Given the description of an element on the screen output the (x, y) to click on. 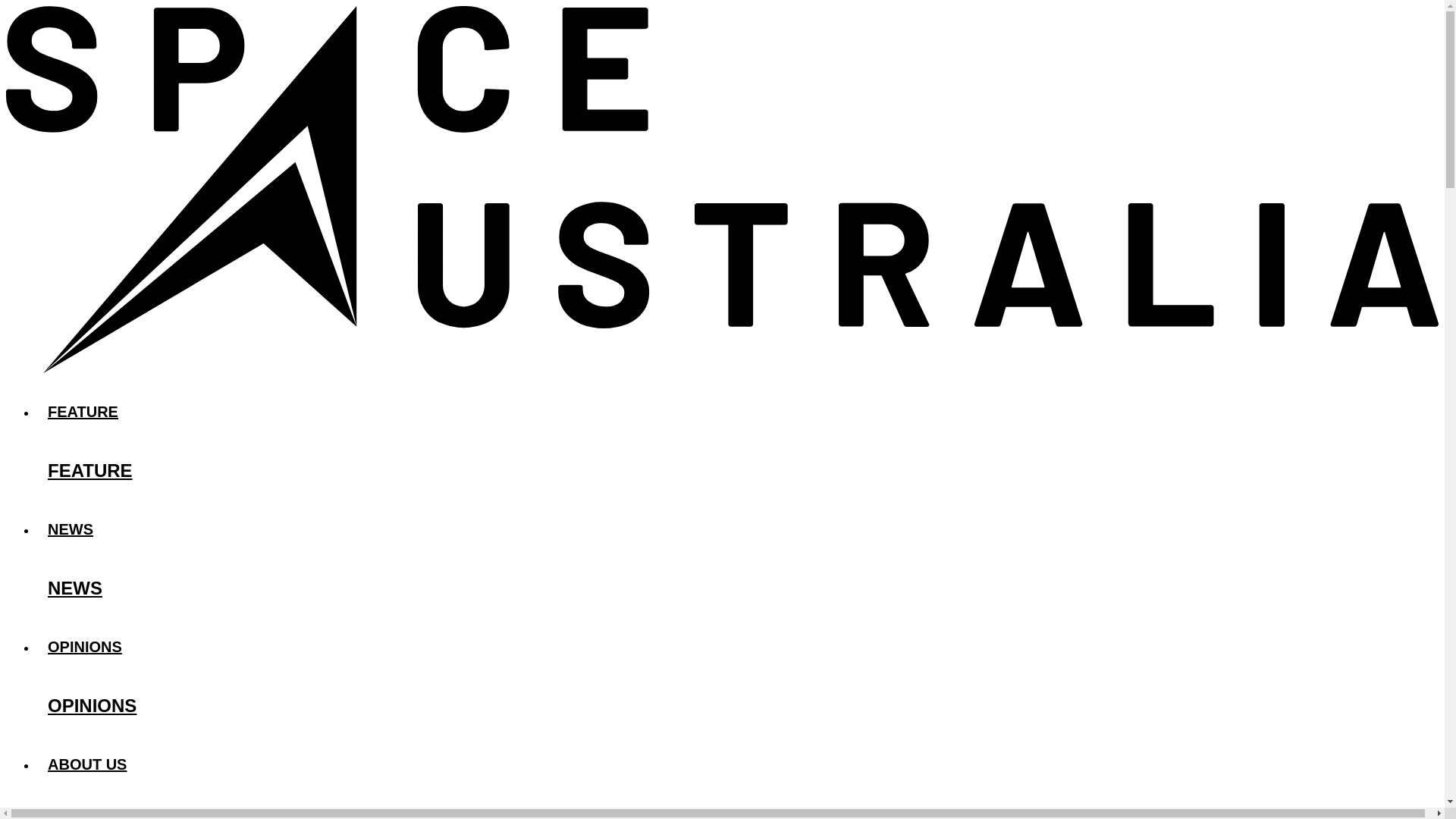
ABOUT US (737, 764)
ABOUT US (737, 808)
OPINIONS (737, 646)
Skip to main content (722, 7)
NEWS (737, 588)
FEATURE (737, 411)
NEWS (737, 529)
OPINIONS (737, 706)
FEATURE (737, 470)
